Given the description of an element on the screen output the (x, y) to click on. 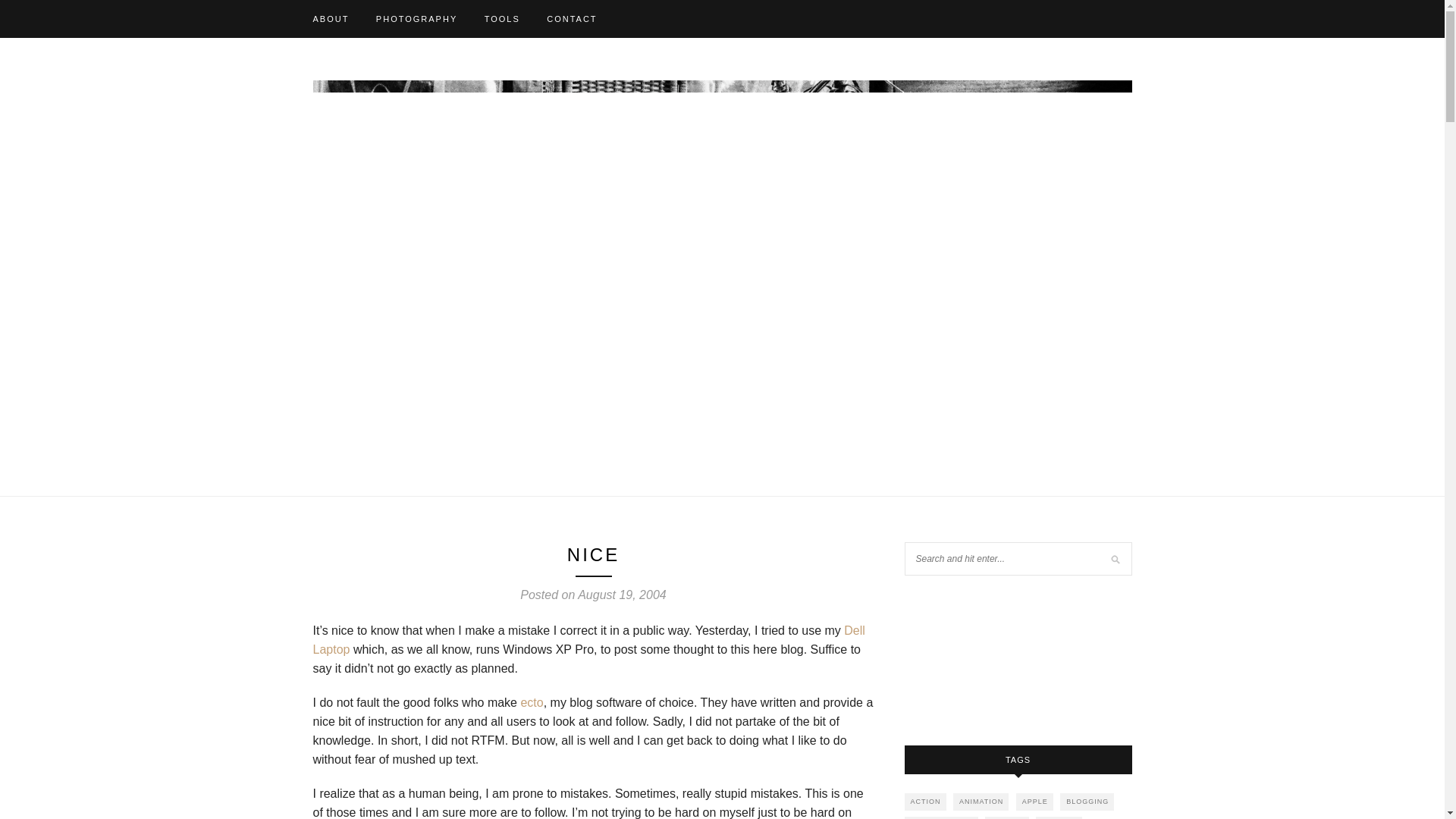
ABOUT (331, 18)
PHOTOGRAPHY (416, 18)
Dell Laptop (588, 640)
COMEDY (1058, 817)
CONTACT (571, 18)
ecto (531, 702)
TOOLS (501, 18)
COFFEE (1007, 817)
CARRIE FISHER (941, 817)
BLOGGING (1086, 801)
APPLE (1034, 801)
ANIMATION (981, 801)
ACTION (924, 801)
